Given the description of an element on the screen output the (x, y) to click on. 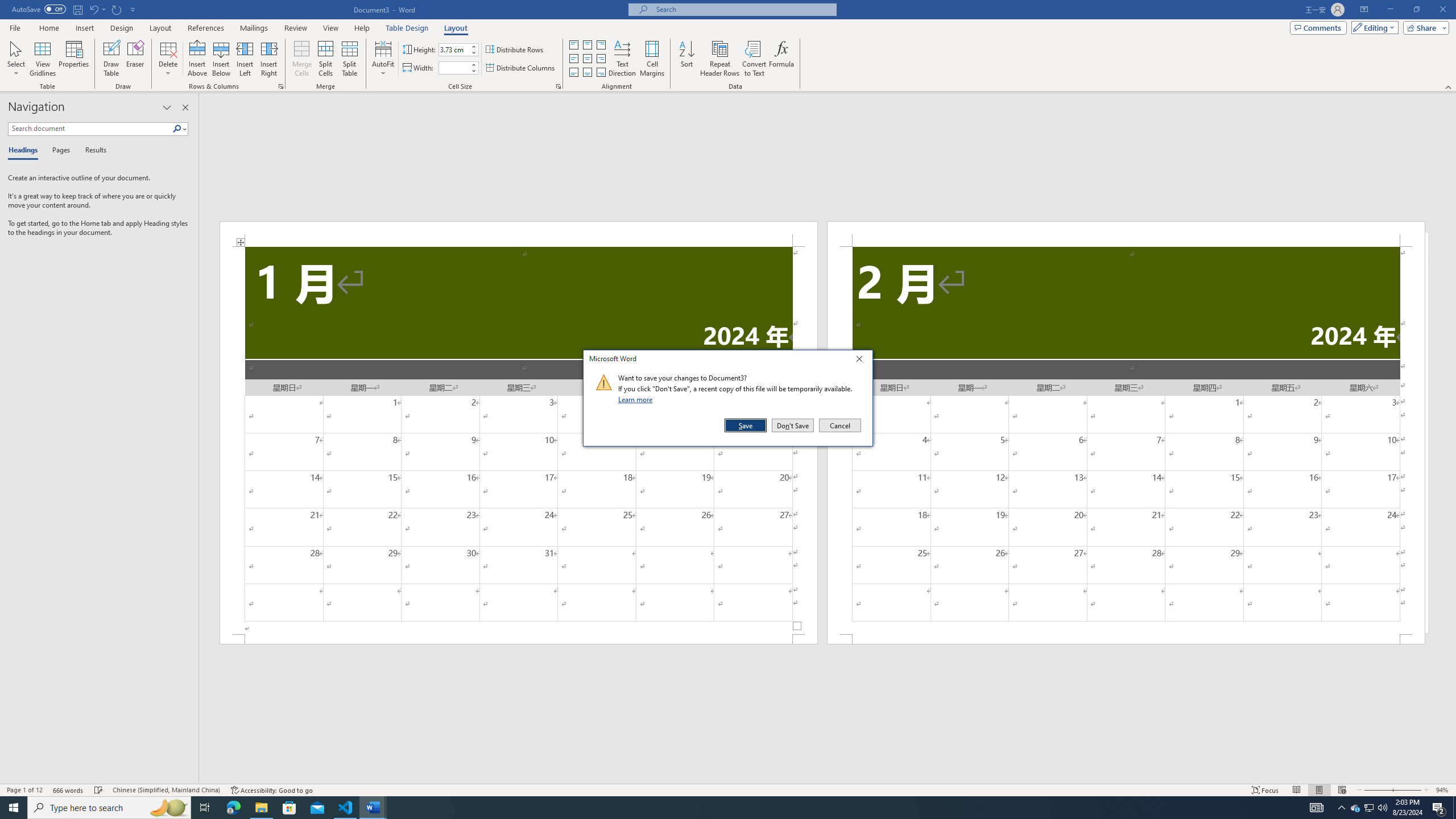
Mailings (253, 28)
Table Design (407, 28)
Align Top Center (587, 44)
Footer -Section 2- (1126, 638)
AutoSave (38, 9)
View Gridlines (42, 58)
More Options (103, 9)
Action Center, 2 new notifications (1439, 807)
Pages (59, 150)
Quick Access Toolbar (74, 9)
Cell Margins... (652, 58)
Focus  (1265, 790)
Formula... (780, 58)
Headings (1368, 807)
